Given the description of an element on the screen output the (x, y) to click on. 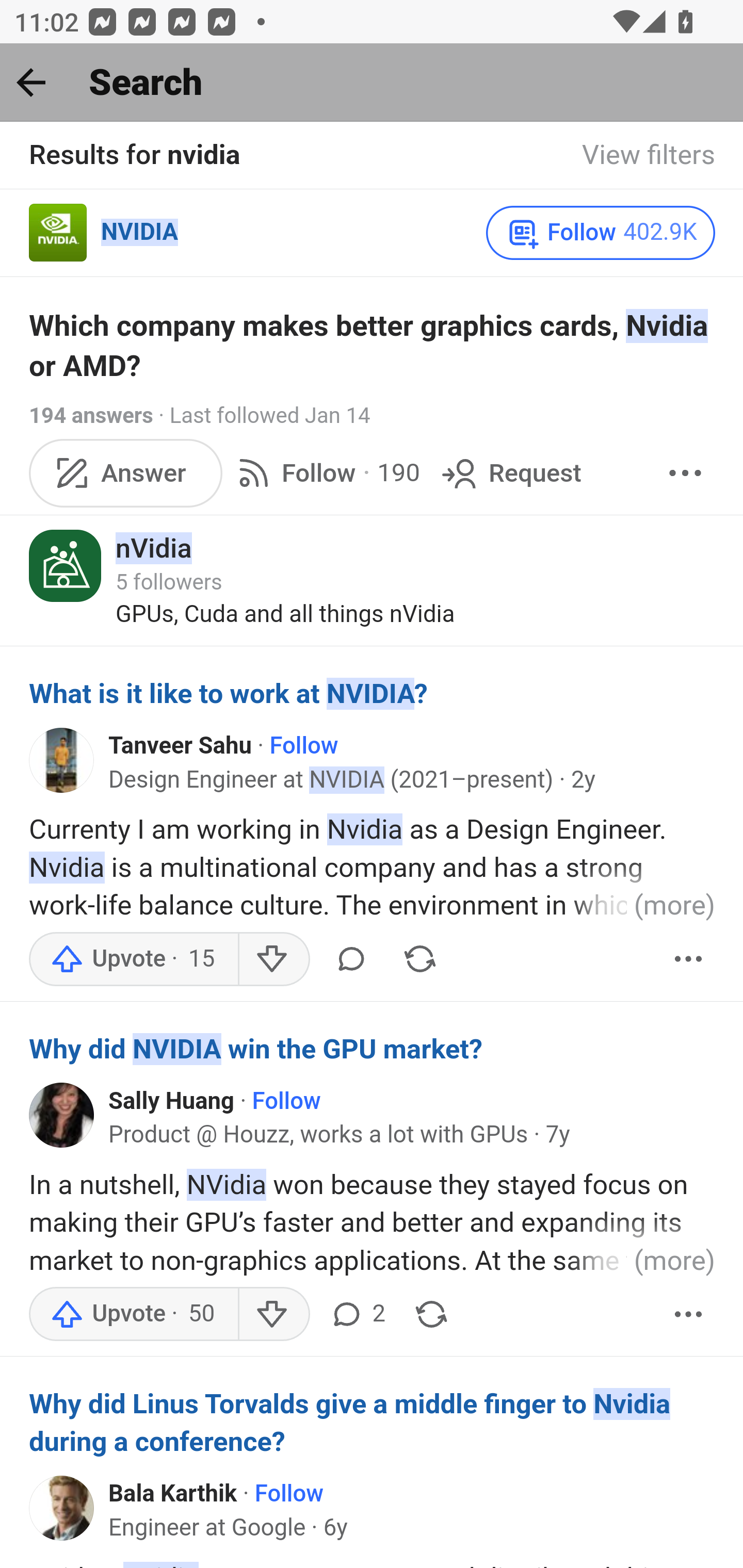
Back Search (371, 82)
Back (30, 82)
View filters (648, 155)
Follow 402.9K (599, 232)
194 answers 194  answers (90, 414)
Answer (125, 472)
Follow · 190 (324, 472)
Request (509, 472)
More (684, 472)
What is it like to work at NVIDIA? (372, 693)
Profile photo for Tanveer Sahu (61, 759)
Tanveer Sahu (180, 746)
Follow (303, 746)
2y 2 y (582, 779)
Upvote (133, 957)
Downvote (273, 957)
Comment (350, 957)
Share (419, 957)
More (688, 957)
Why did NVIDIA win the GPU market? (372, 1049)
Profile photo for Sally Huang (61, 1115)
Sally Huang (171, 1100)
Follow (286, 1100)
7y 7 y (557, 1134)
Upvote (133, 1313)
Downvote (273, 1313)
2 comments (357, 1313)
Share (430, 1313)
More (688, 1313)
Profile photo for Bala Karthik (61, 1507)
Bala Karthik (173, 1494)
Follow (288, 1494)
6y 6 y (334, 1527)
